Given the description of an element on the screen output the (x, y) to click on. 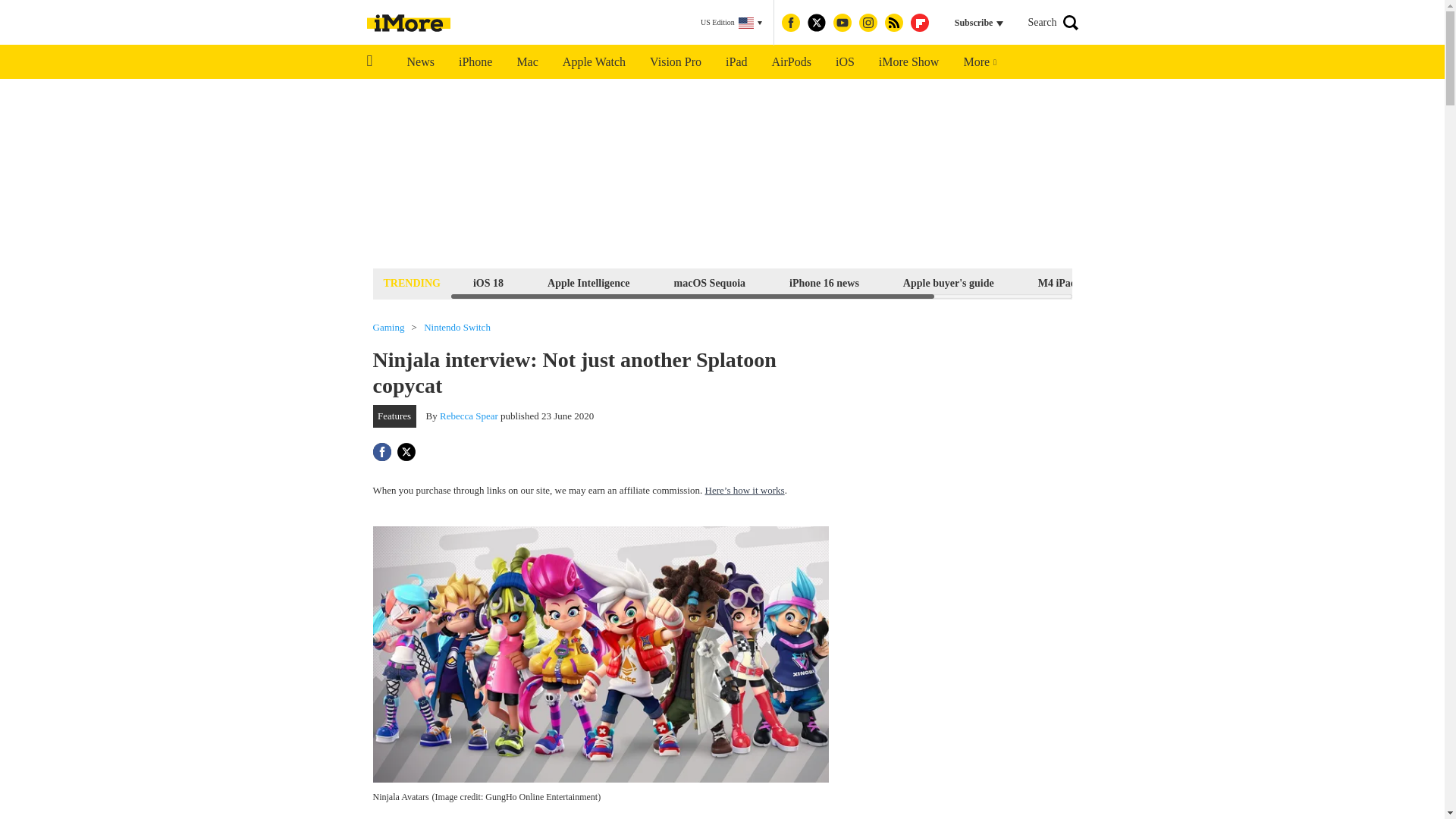
Apple Watch (593, 61)
iPad (735, 61)
US Edition (731, 22)
News (419, 61)
iOS (845, 61)
AirPods (792, 61)
iPhone (474, 61)
iMore Show (909, 61)
Mac (526, 61)
Vision Pro (675, 61)
